Given the description of an element on the screen output the (x, y) to click on. 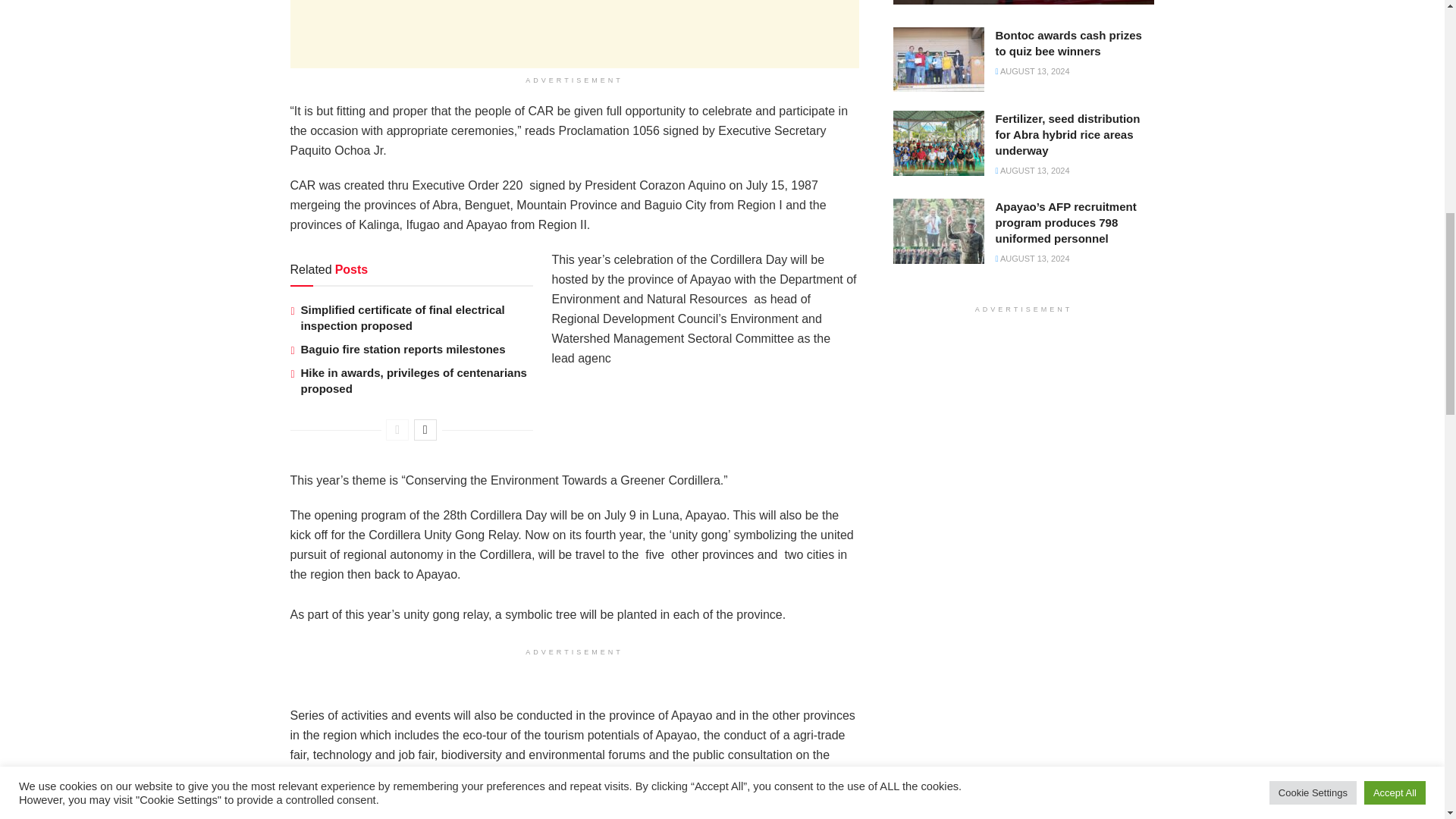
Previous (397, 429)
Next (424, 429)
Advertisement (574, 33)
